Given the description of an element on the screen output the (x, y) to click on. 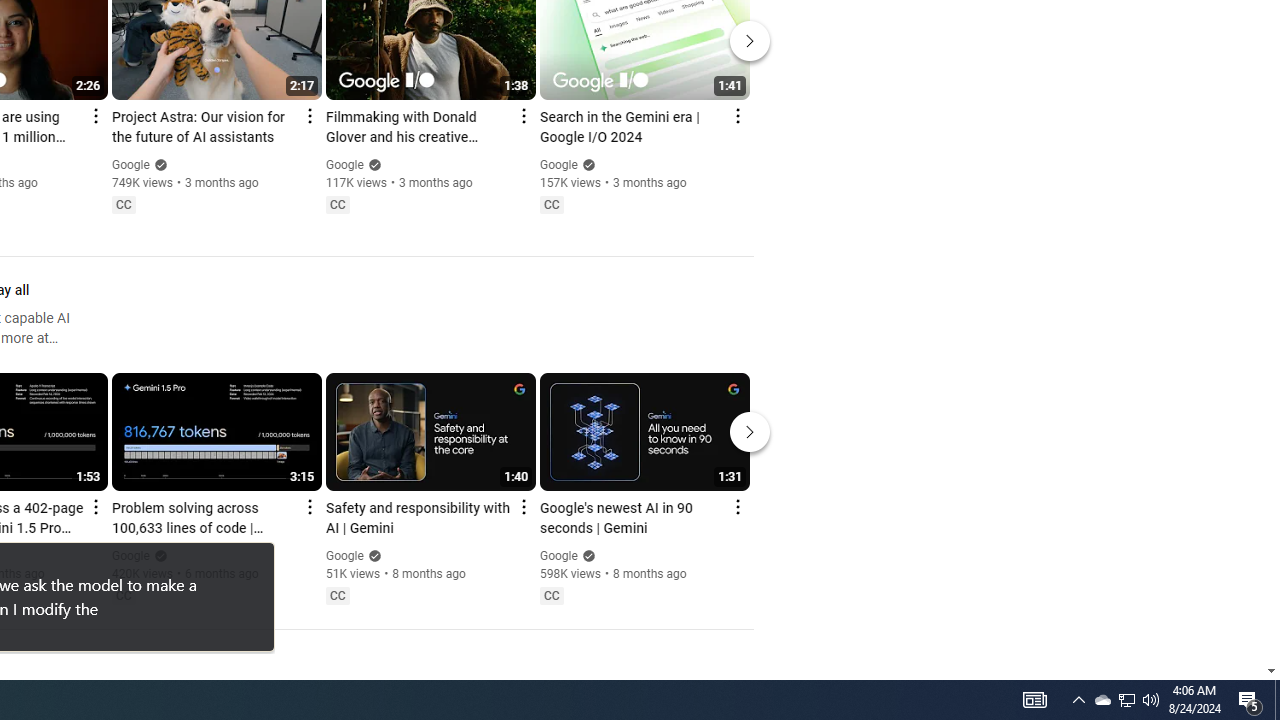
Verified (586, 555)
Next (749, 431)
Action menu (736, 506)
Google (558, 556)
Closed captions (551, 595)
